Given the description of an element on the screen output the (x, y) to click on. 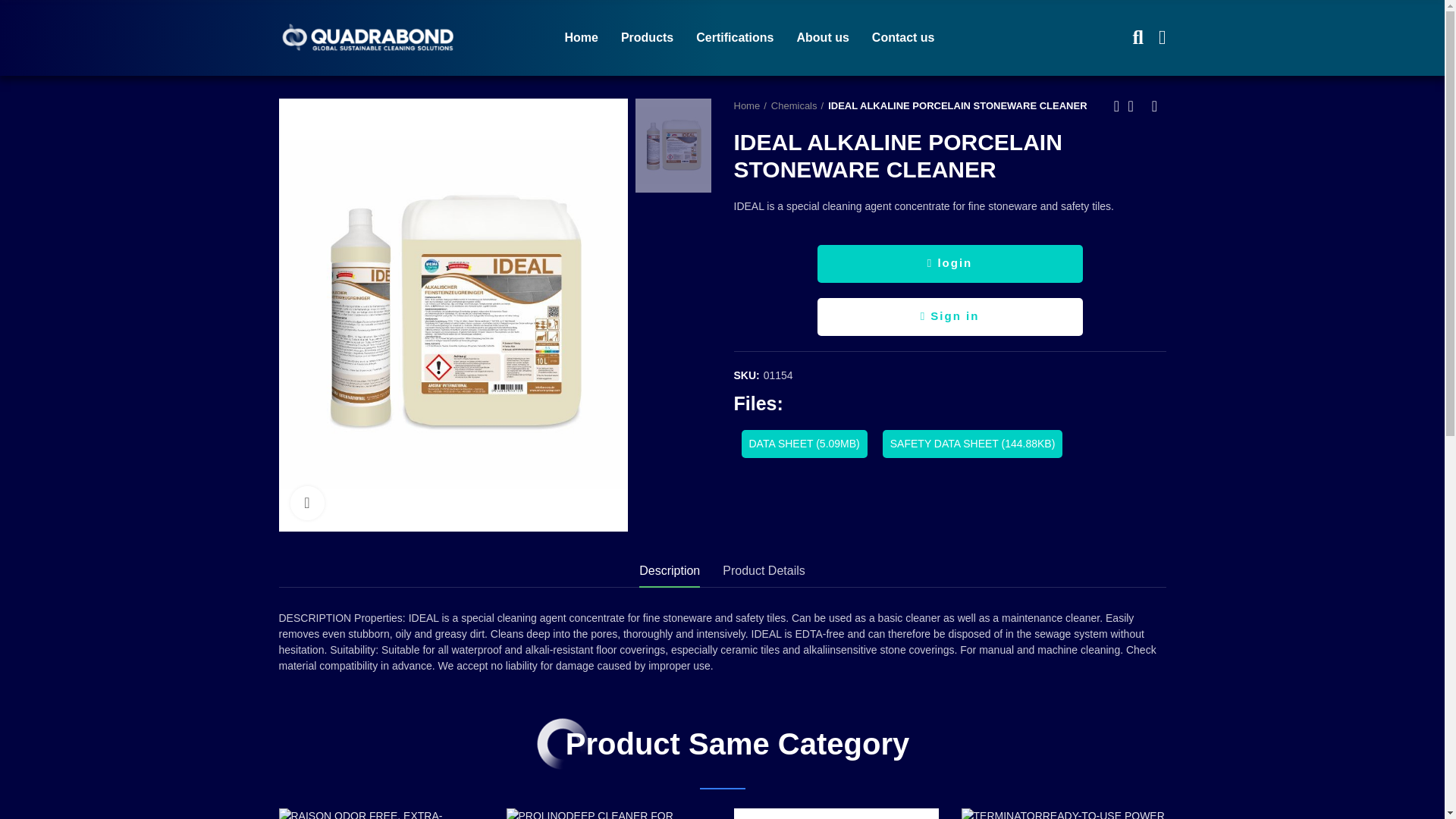
About us (823, 37)
Back to home (1135, 105)
Certifications (735, 37)
Contact us (903, 37)
Chemicals (797, 105)
Home (580, 37)
About us (823, 37)
Sign in (949, 316)
Contact us (903, 37)
Home (750, 105)
